Given the description of an element on the screen output the (x, y) to click on. 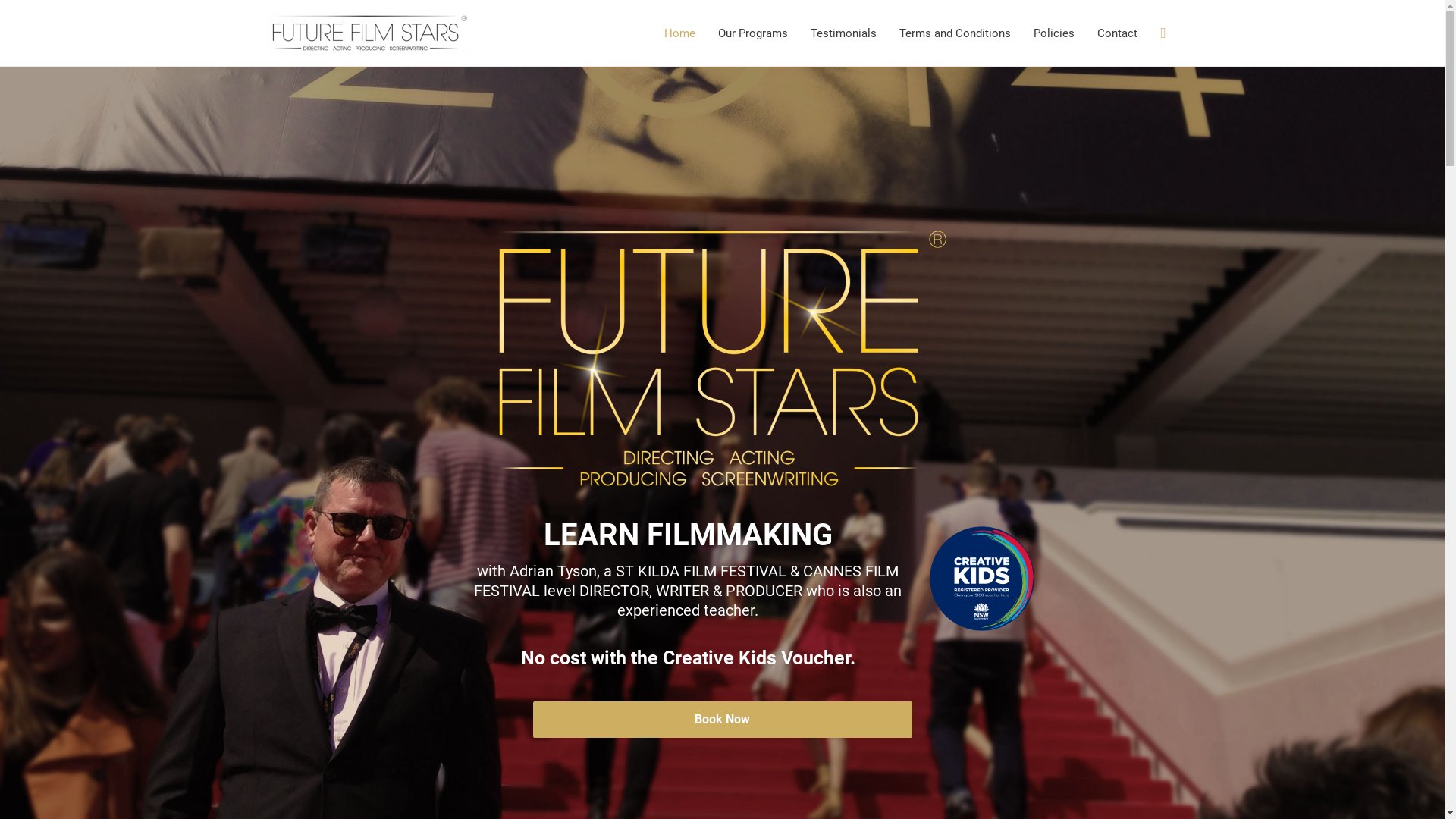
Our Programs Element type: text (752, 32)
Contact Element type: text (1116, 32)
Home Element type: text (679, 32)
Testimonials Element type: text (843, 32)
Policies Element type: text (1053, 32)
Terms and Conditions Element type: text (955, 32)
Book Now Element type: text (721, 719)
